Given the description of an element on the screen output the (x, y) to click on. 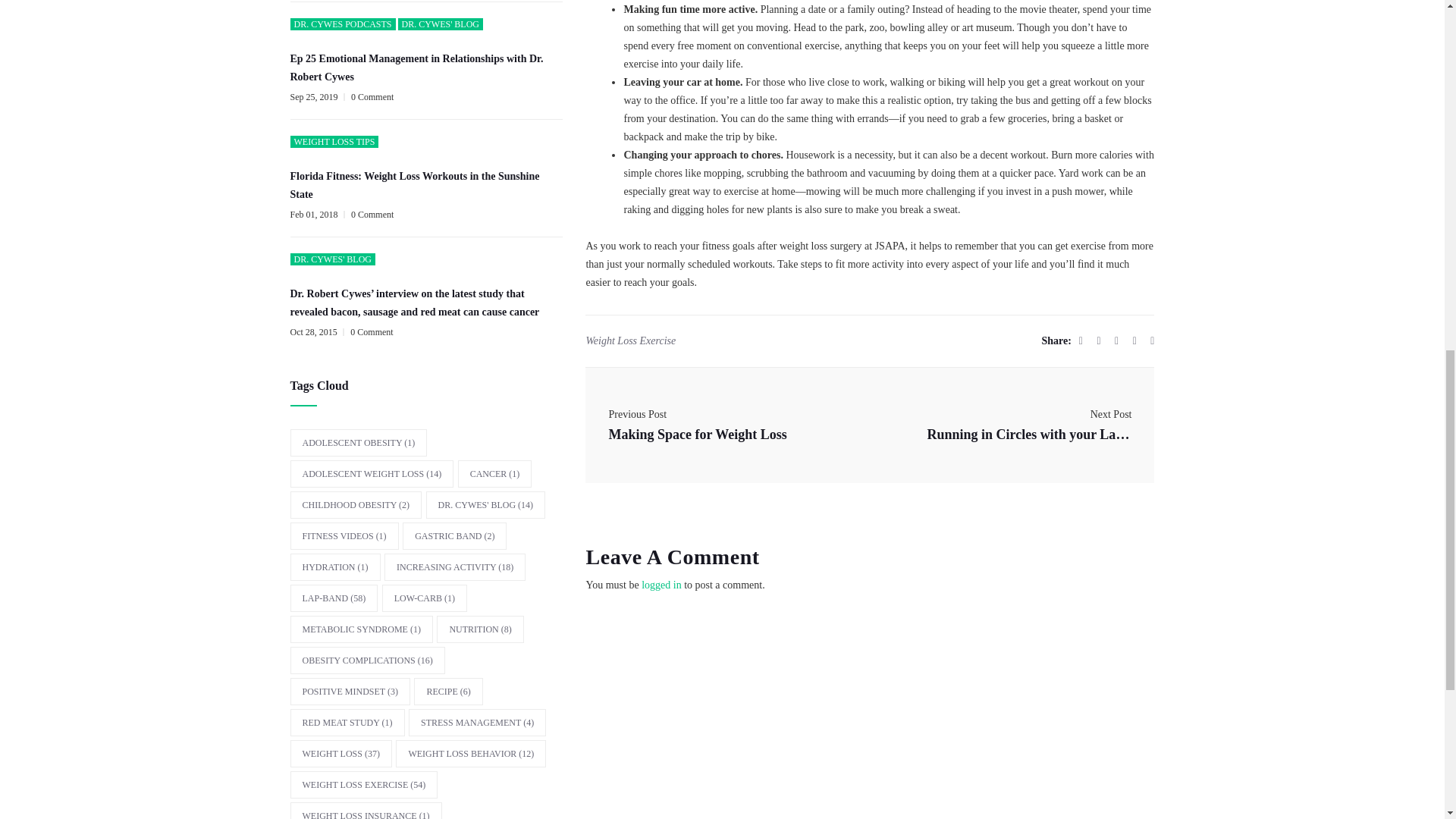
Florida Fitness: Weight Loss Workouts in the Sunshine State (425, 185)
